Given the description of an element on the screen output the (x, y) to click on. 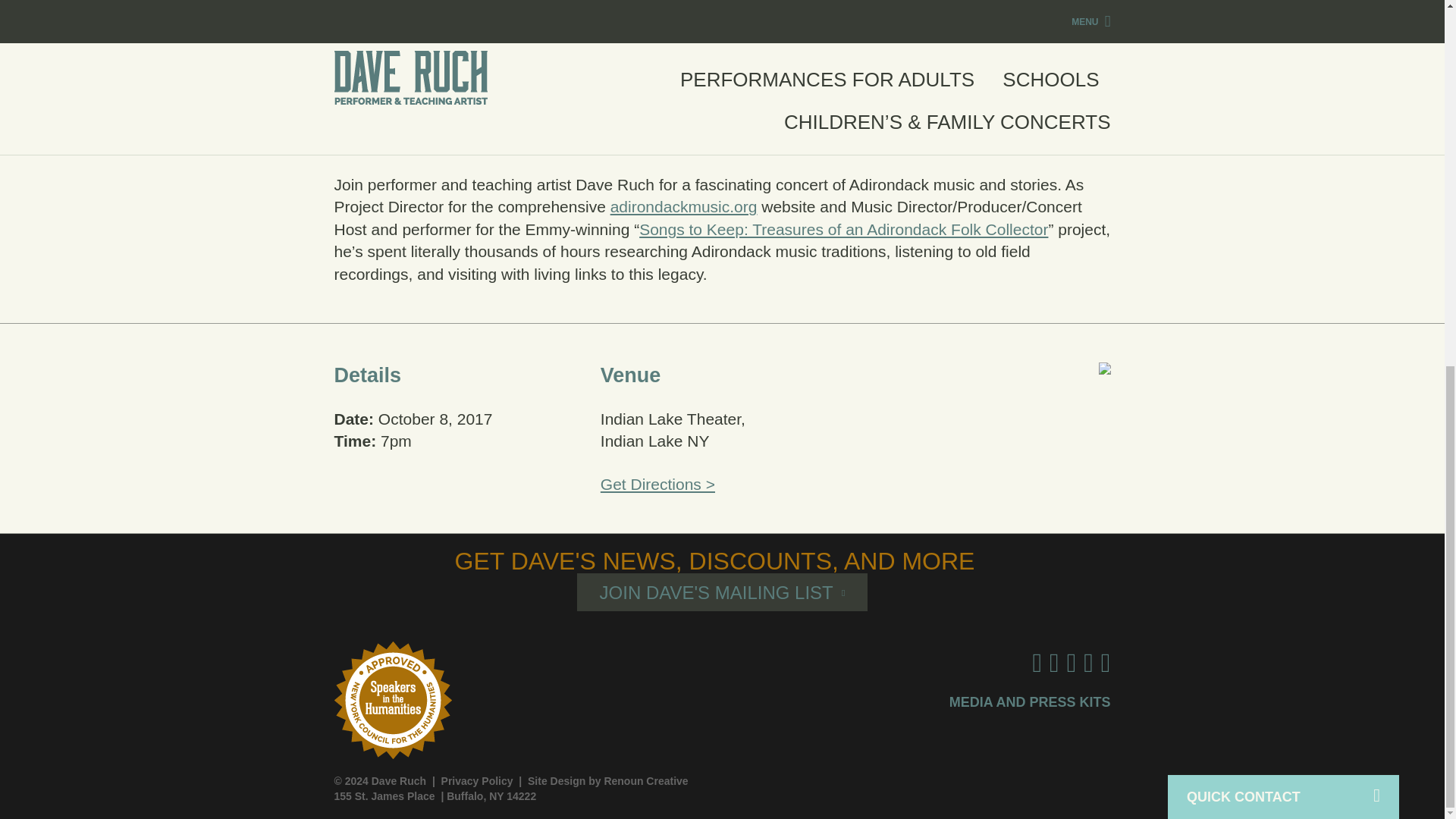
MEDIA AND PRESS KITS (1029, 702)
adirondackmusic.org (683, 206)
JOIN DAVE'S MAILING LIST (721, 591)
Renoun Creative (645, 780)
Privacy Policy (477, 780)
Media and Press Kits (1029, 702)
Songs to Keep: Treasures of an Adirondack Folk Collector (843, 229)
Privacy Policy (477, 780)
